Given the description of an element on the screen output the (x, y) to click on. 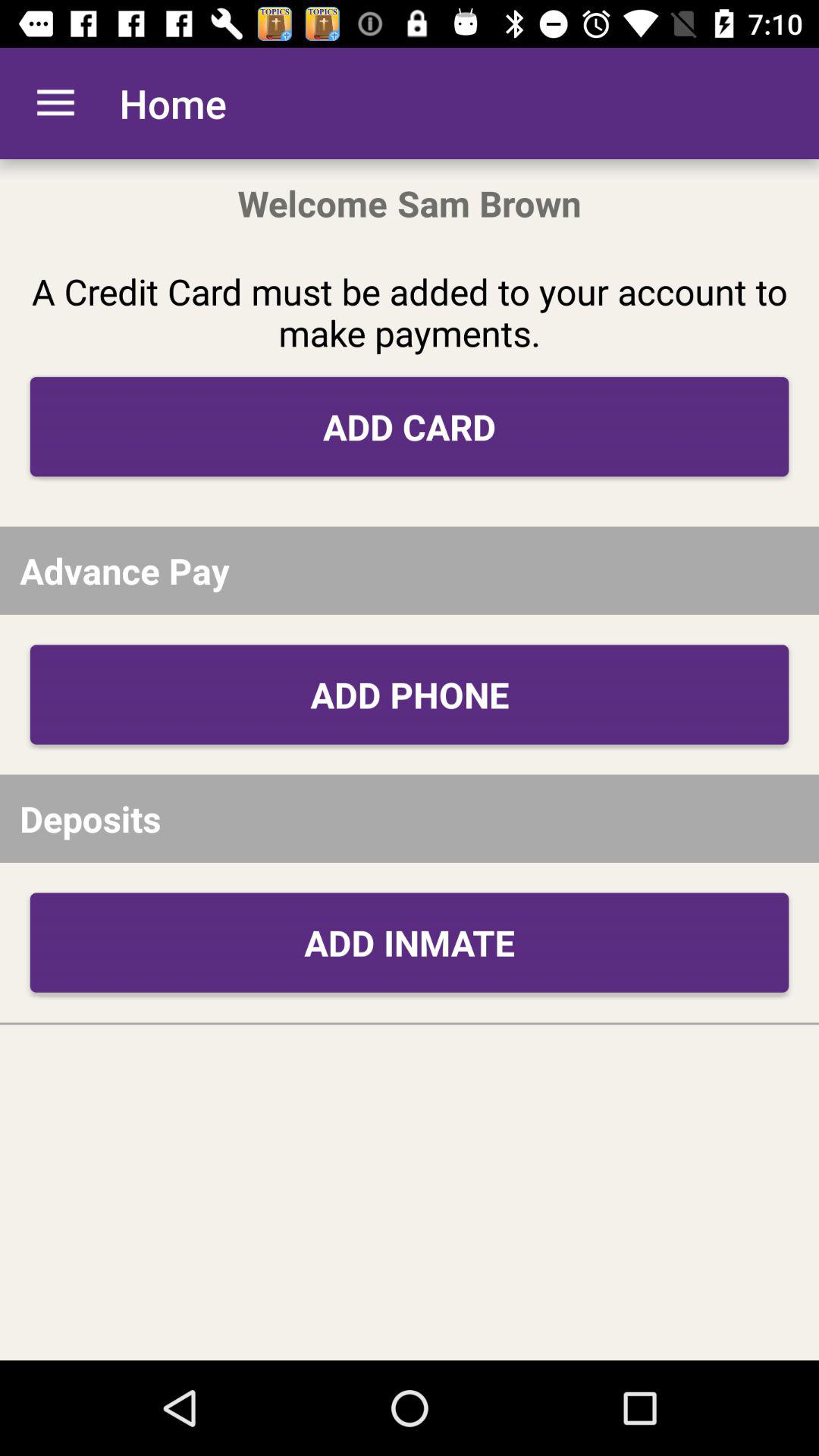
jump until add card (409, 426)
